Given the description of an element on the screen output the (x, y) to click on. 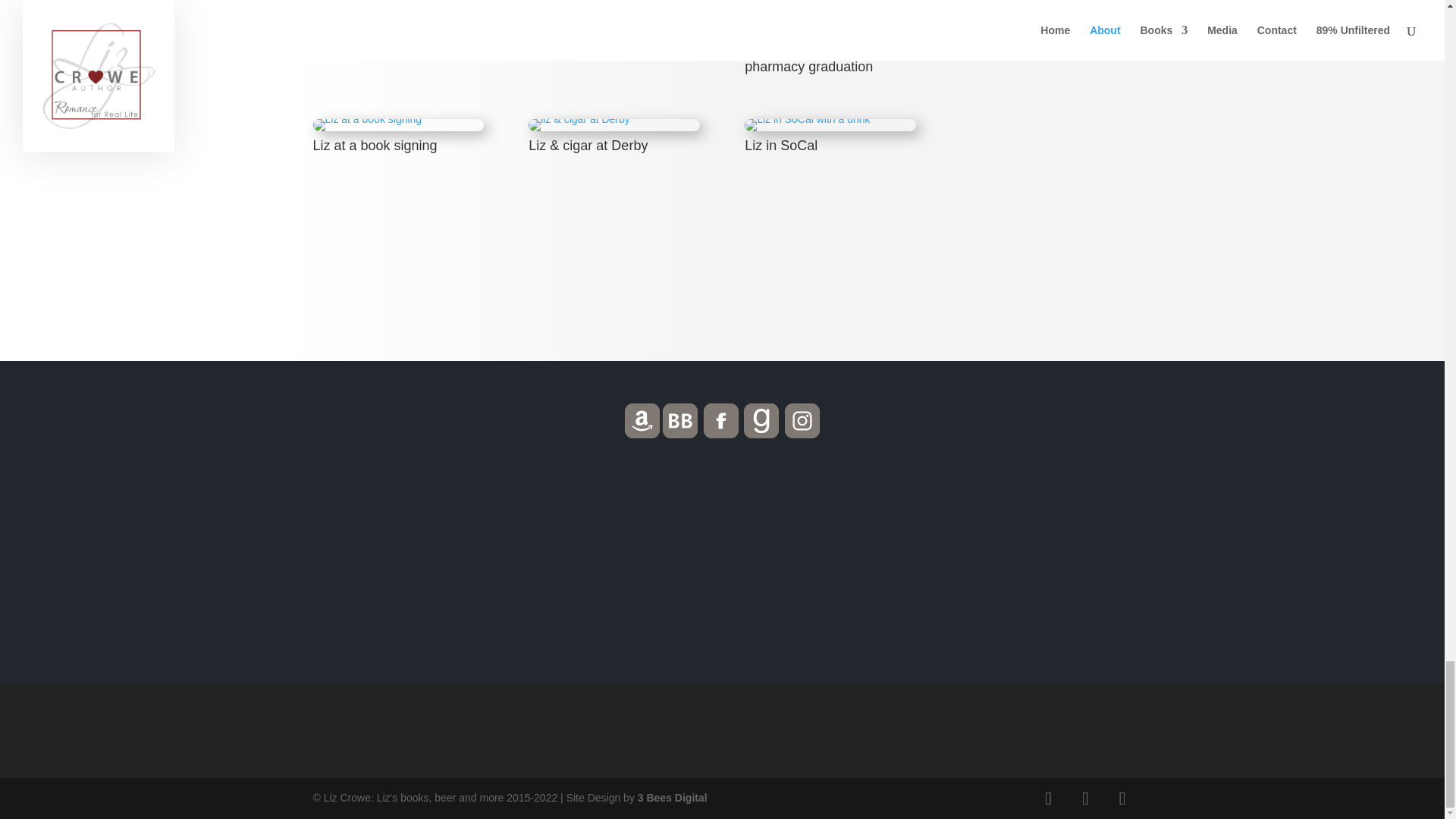
Liz's kitties (372, 26)
Liz at a book signing (367, 118)
Liz and the family at pharmacy graduation (793, 26)
Liz in SoCal (806, 118)
Josie, a furbaby (574, 26)
